Given the description of an element on the screen output the (x, y) to click on. 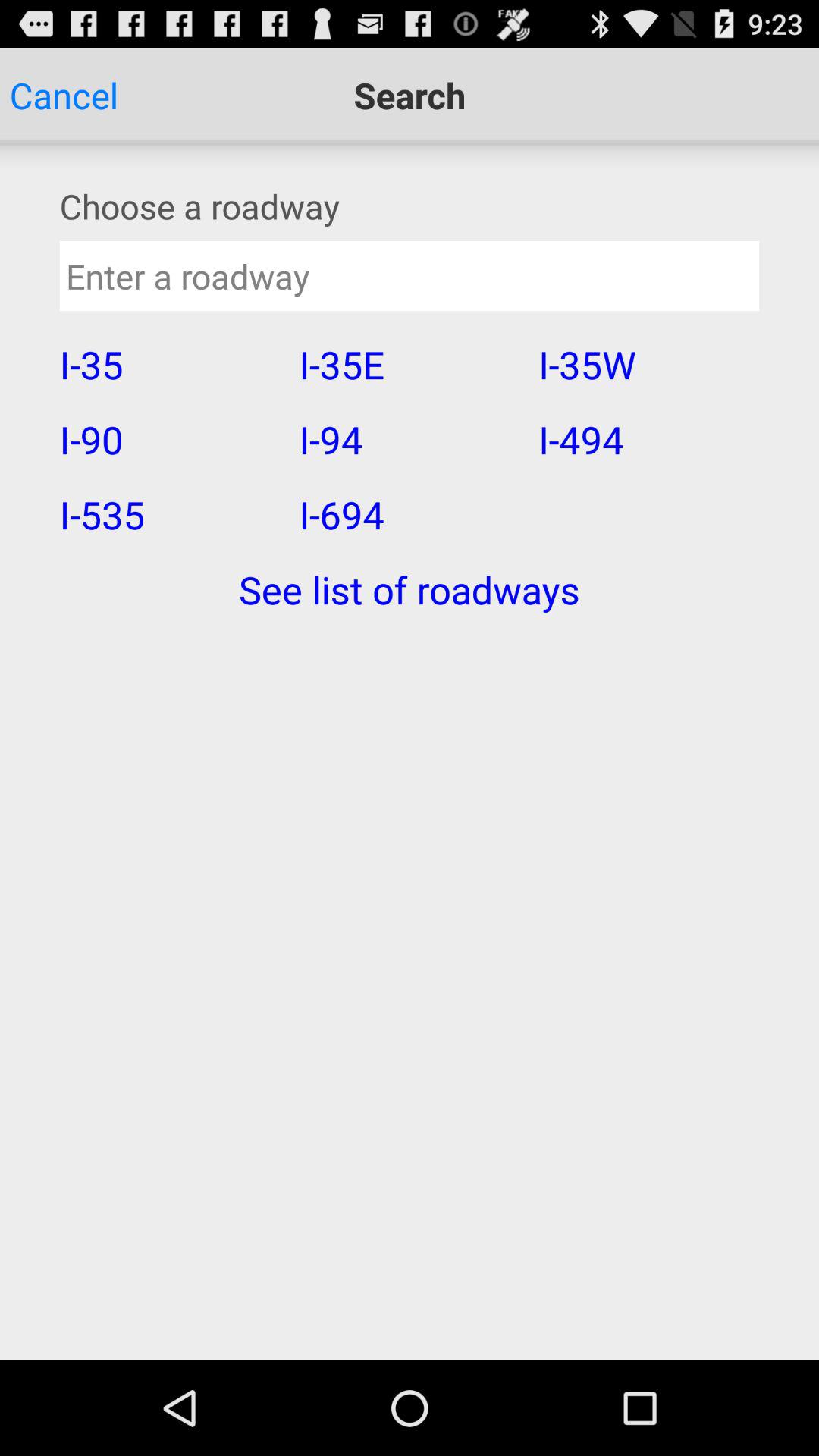
launch i-35 (169, 364)
